Given the description of an element on the screen output the (x, y) to click on. 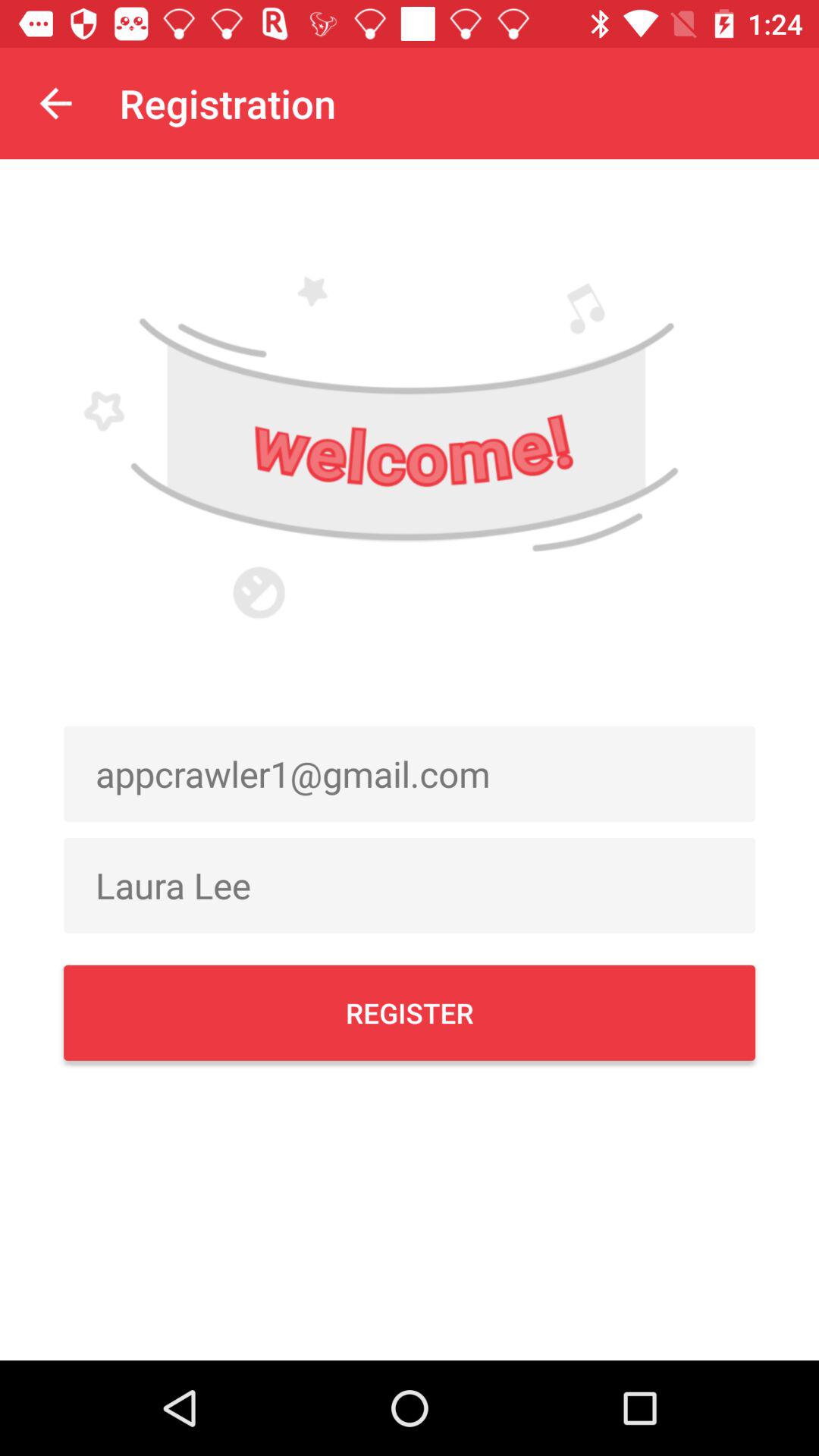
press the item next to registration icon (55, 103)
